Given the description of an element on the screen output the (x, y) to click on. 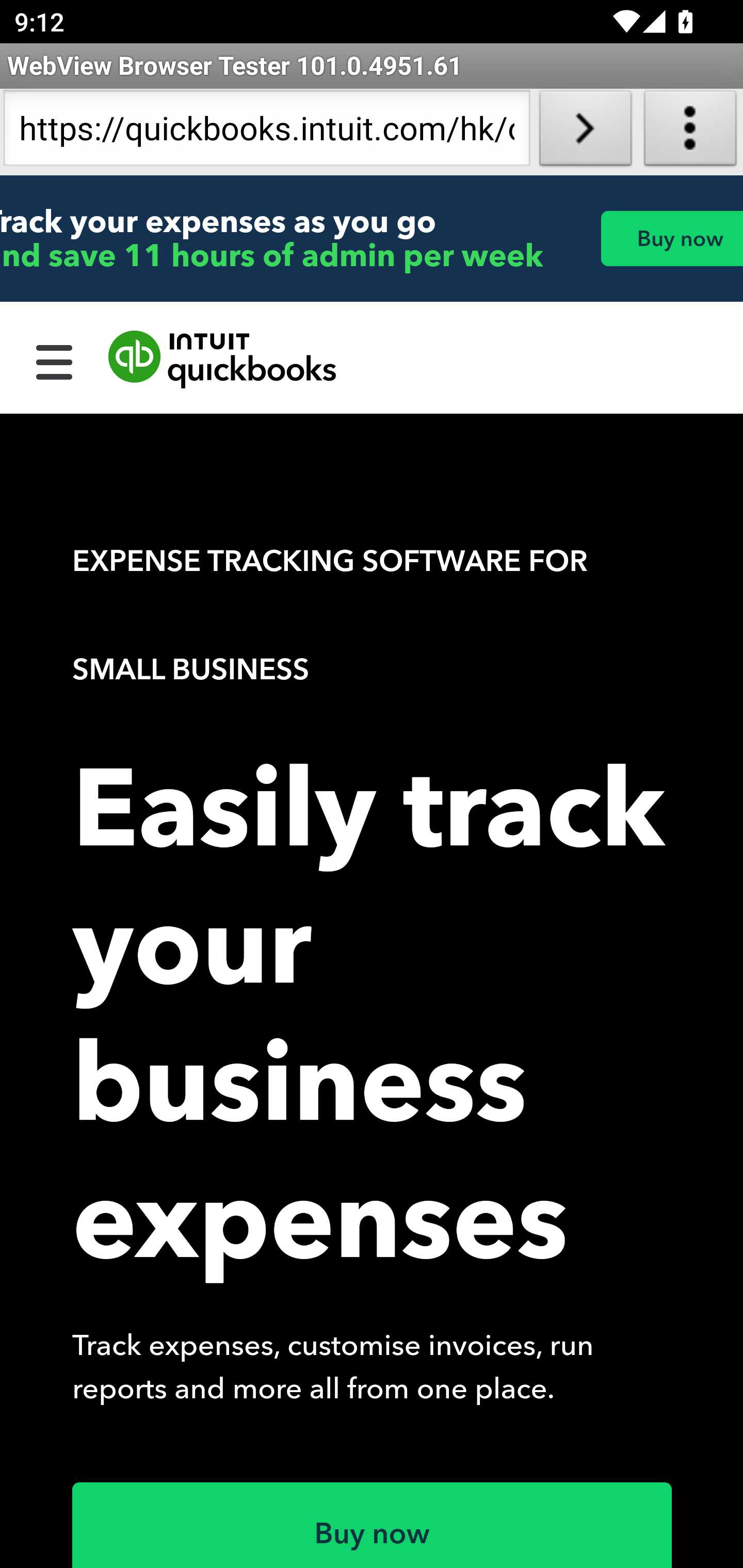
Load URL (585, 132)
About WebView (690, 132)
Buy now (671, 238)
quickbooks-mobile-burger (54, 359)
quickbooks (222, 359)
Buy now (372, 1524)
